Given the description of an element on the screen output the (x, y) to click on. 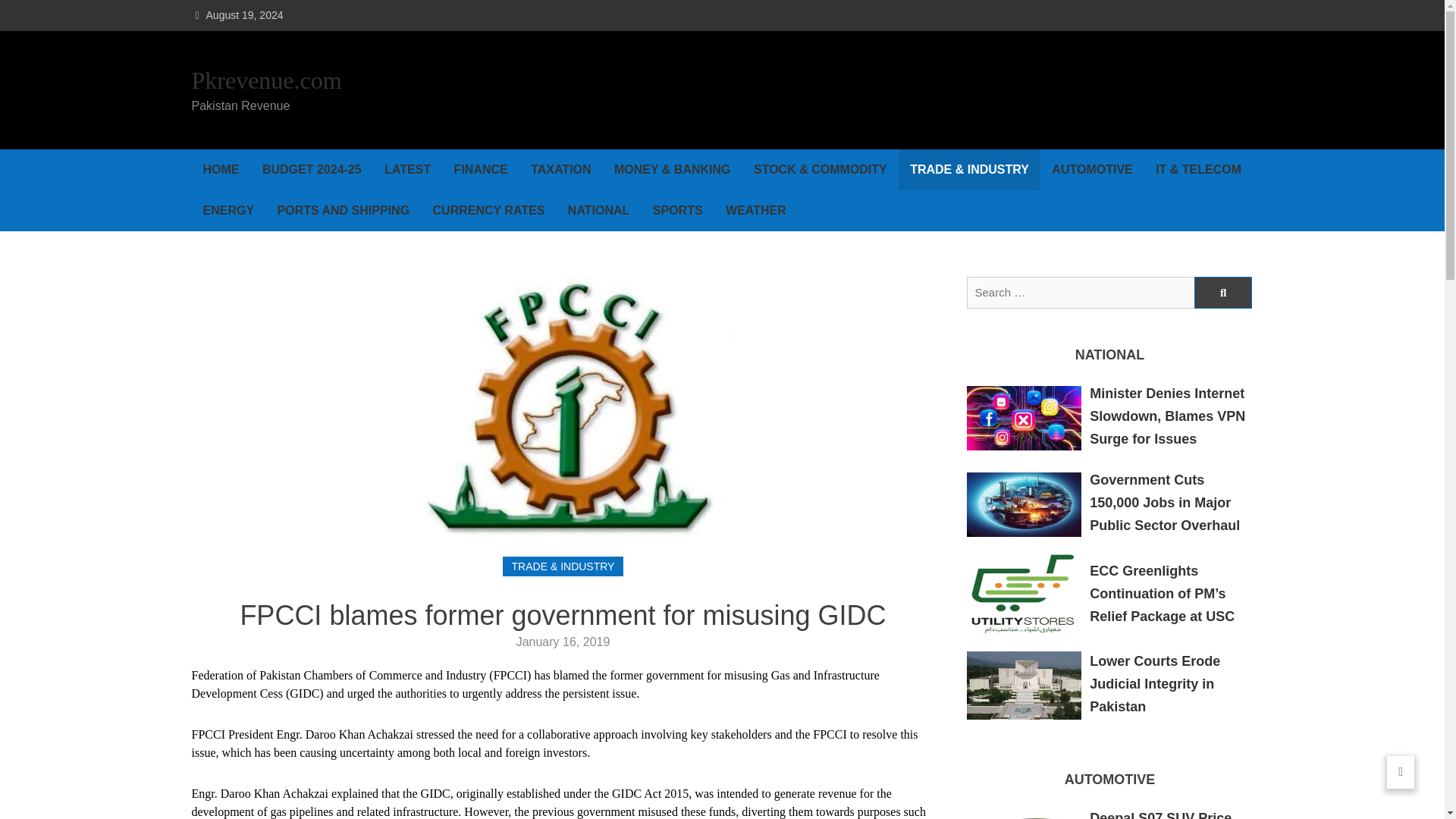
WEATHER (755, 210)
PORTS AND SHIPPING (344, 210)
FINANCE (480, 169)
Government Cuts 150,000 Jobs in Major Public Sector Overhaul (1164, 502)
January 16, 2019 (563, 641)
CURRENCY RATES (489, 210)
TAXATION (560, 169)
HOME (220, 169)
BUDGET 2024-25 (311, 169)
